Given the description of an element on the screen output the (x, y) to click on. 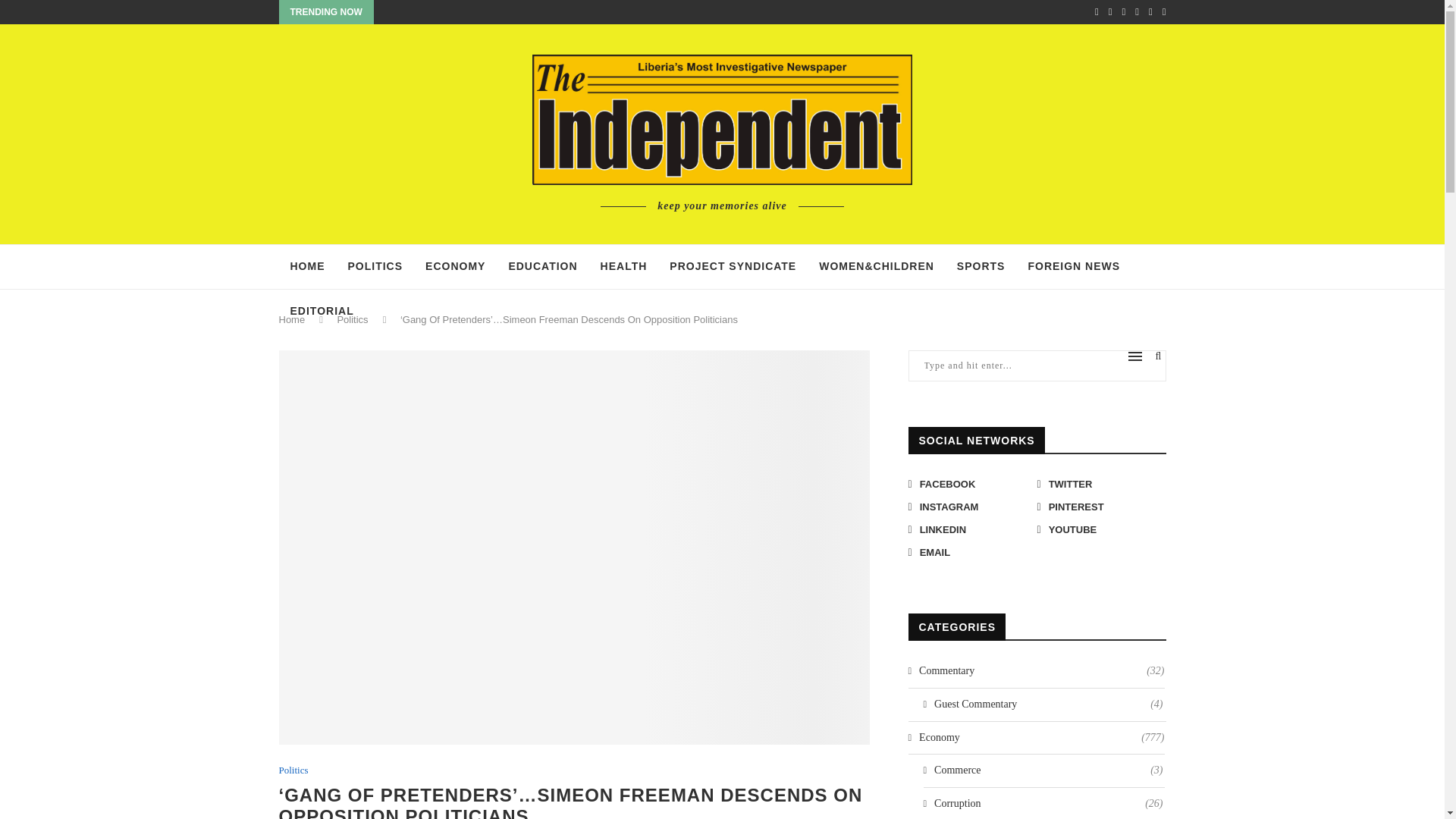
ECONOMY (454, 266)
HEALTH (624, 266)
POLITICS (375, 266)
EDUCATION (542, 266)
HOME (307, 266)
